Given the description of an element on the screen output the (x, y) to click on. 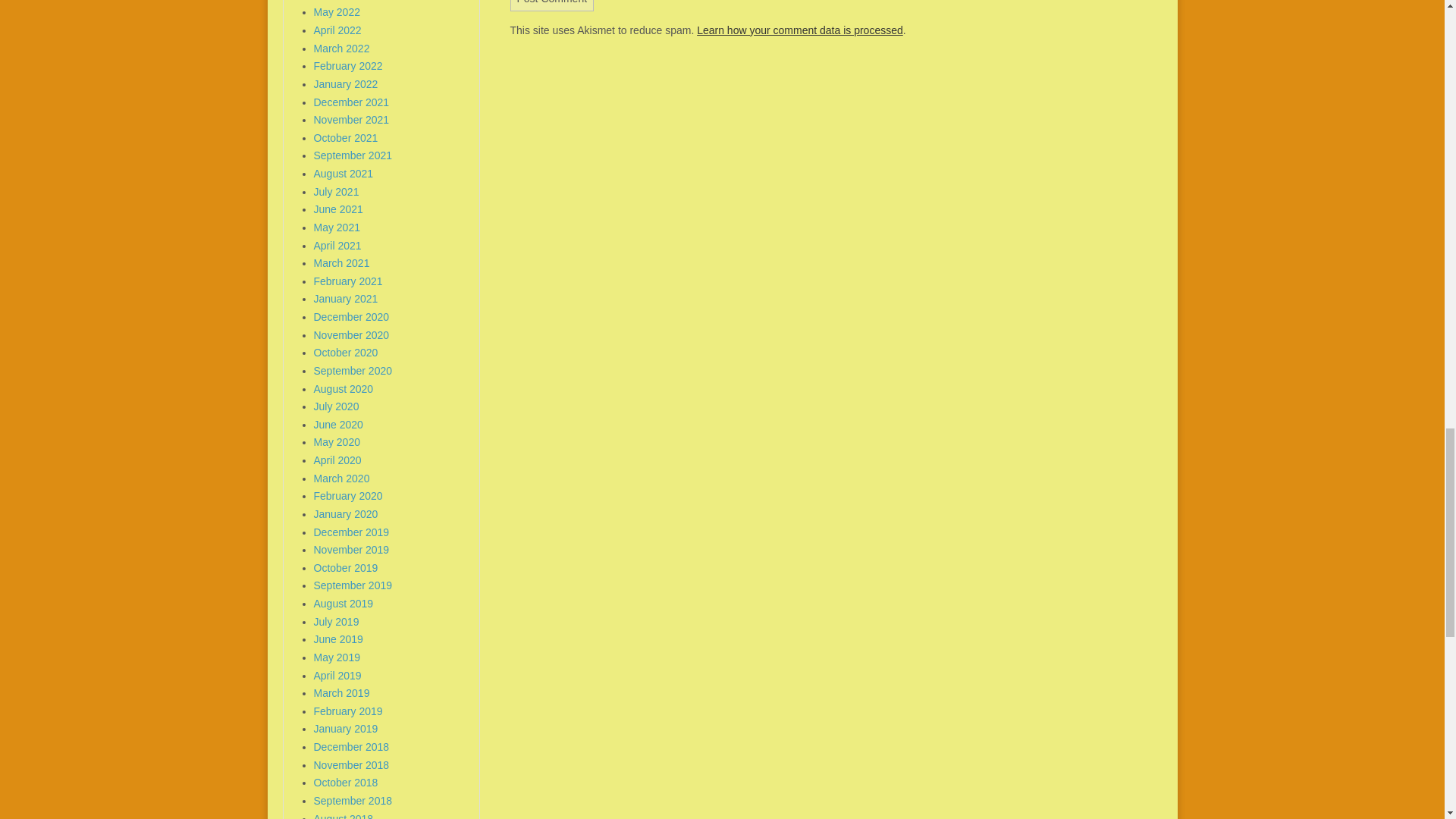
Learn how your comment data is processed (799, 30)
Post Comment (551, 5)
Post Comment (551, 5)
